Given the description of an element on the screen output the (x, y) to click on. 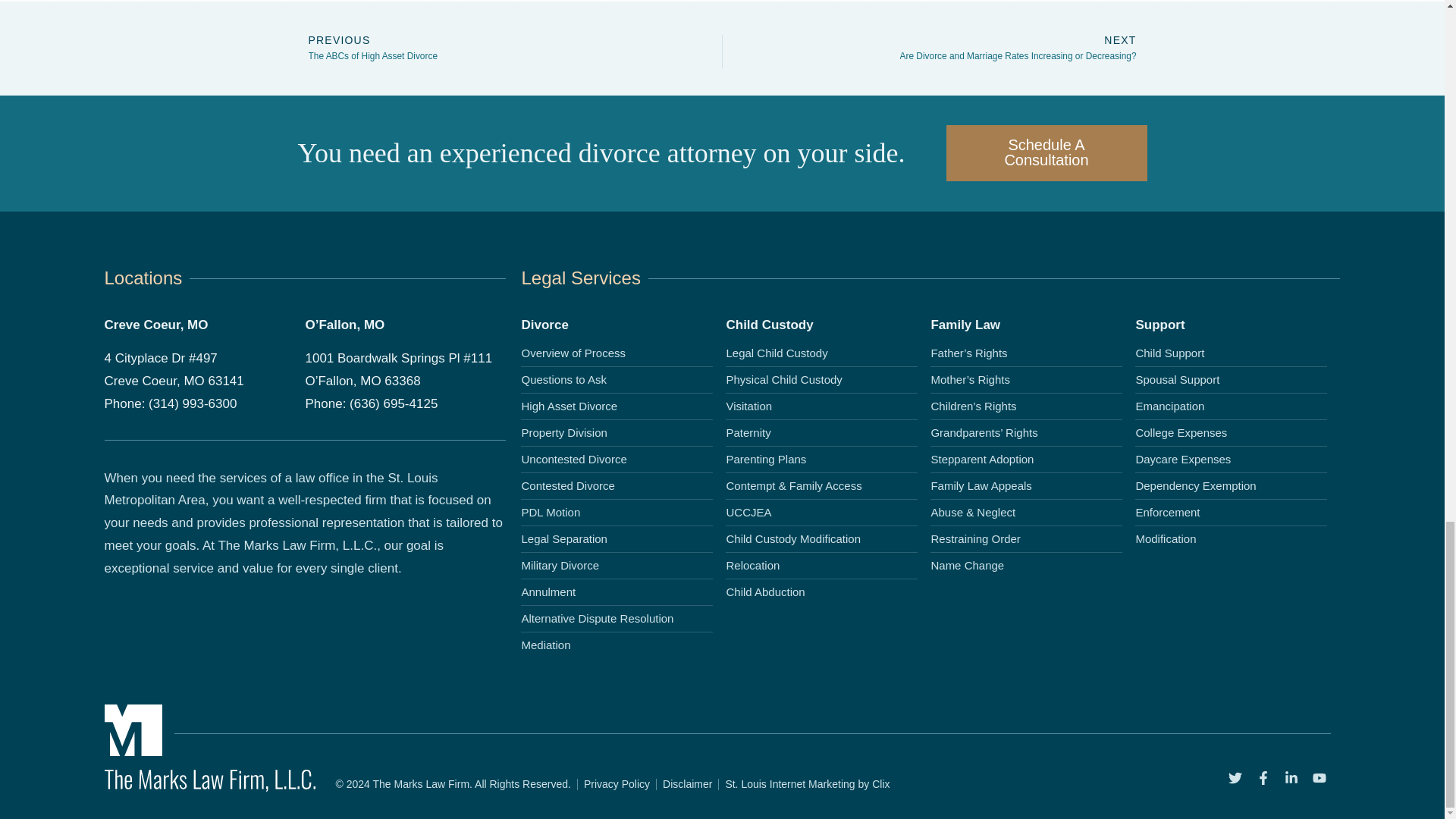
Back to the homepage (132, 751)
Back to the homepage (209, 787)
